Given the description of an element on the screen output the (x, y) to click on. 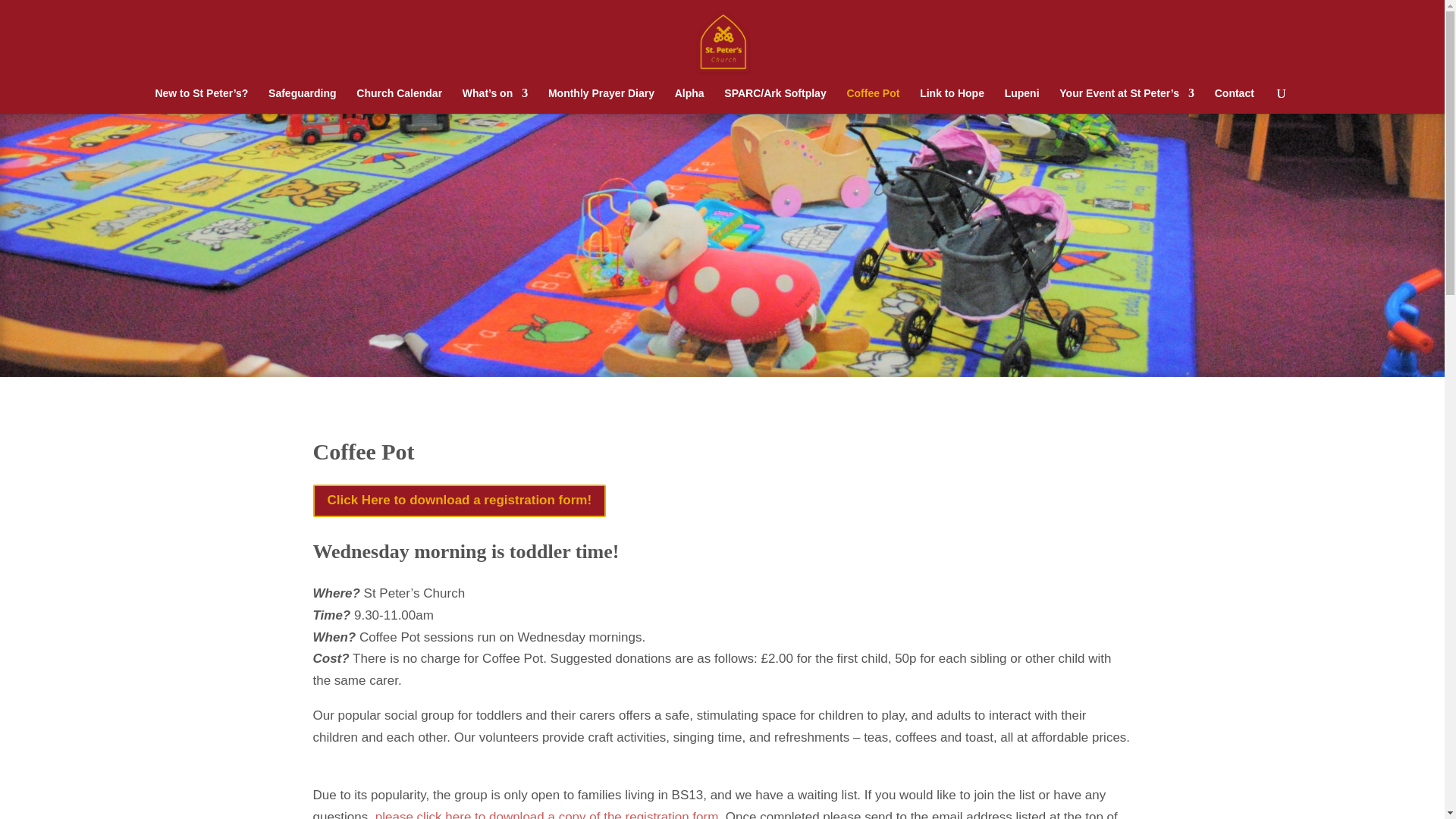
Click Here to download a registration form! (459, 500)
Safeguarding (301, 100)
Coffee Pot (872, 100)
Church Calendar (399, 100)
Alpha (689, 100)
Monthly Prayer Diary (600, 100)
Contact (1233, 100)
Link to Hope (952, 100)
Lupeni (1021, 100)
